Given the description of an element on the screen output the (x, y) to click on. 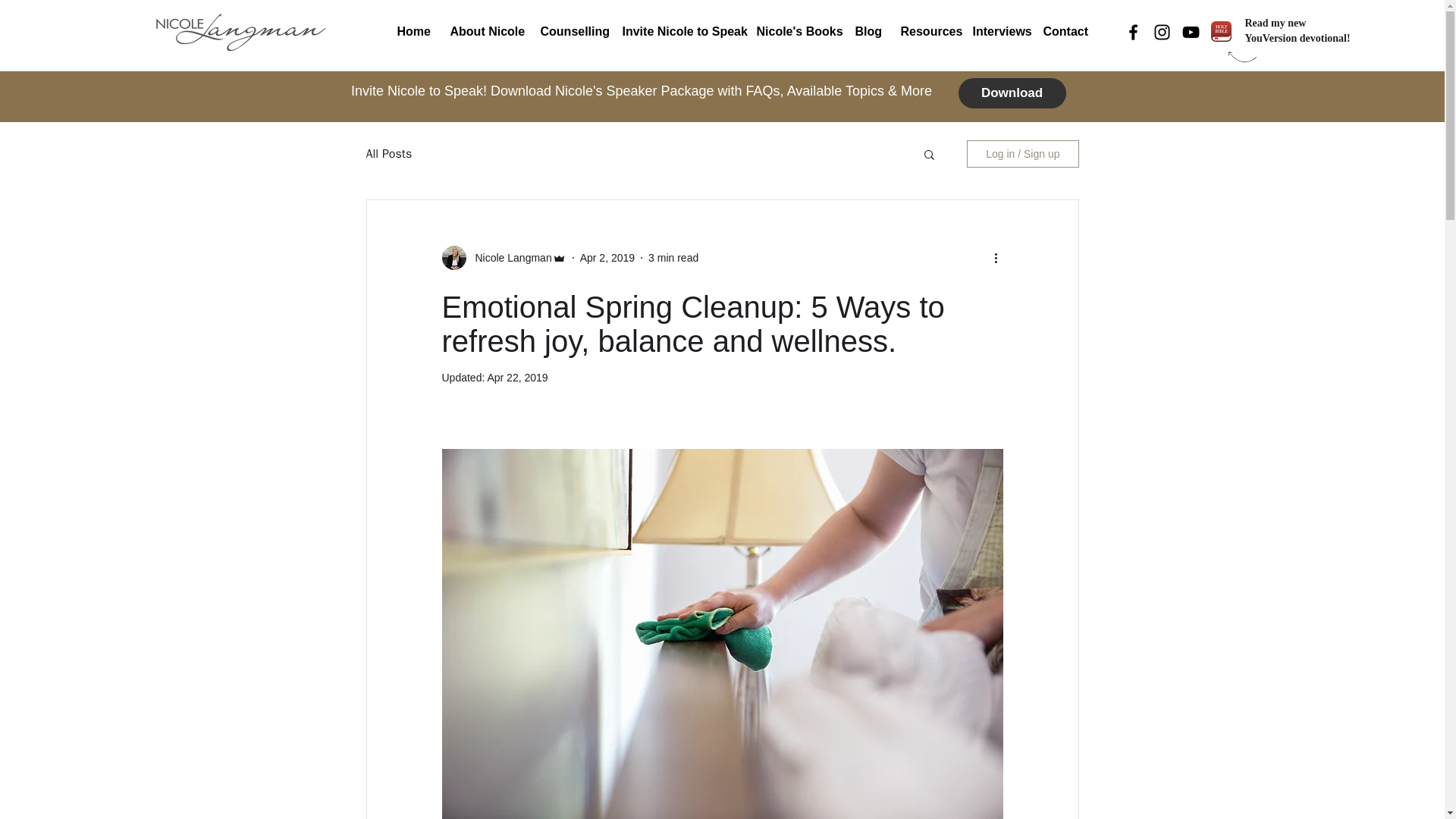
3 min read (672, 257)
Apr 22, 2019 (516, 377)
Nicole's Books (793, 31)
Resources (924, 31)
About Nicole (483, 31)
Nicole Langman (508, 258)
Counselling (570, 31)
Apr 2, 2019 (606, 257)
Download (1011, 92)
All Posts (388, 153)
Contact (1061, 31)
Interviews (996, 31)
Blog (865, 31)
Invite Nicole to Speak (678, 31)
Home (411, 31)
